Given the description of an element on the screen output the (x, y) to click on. 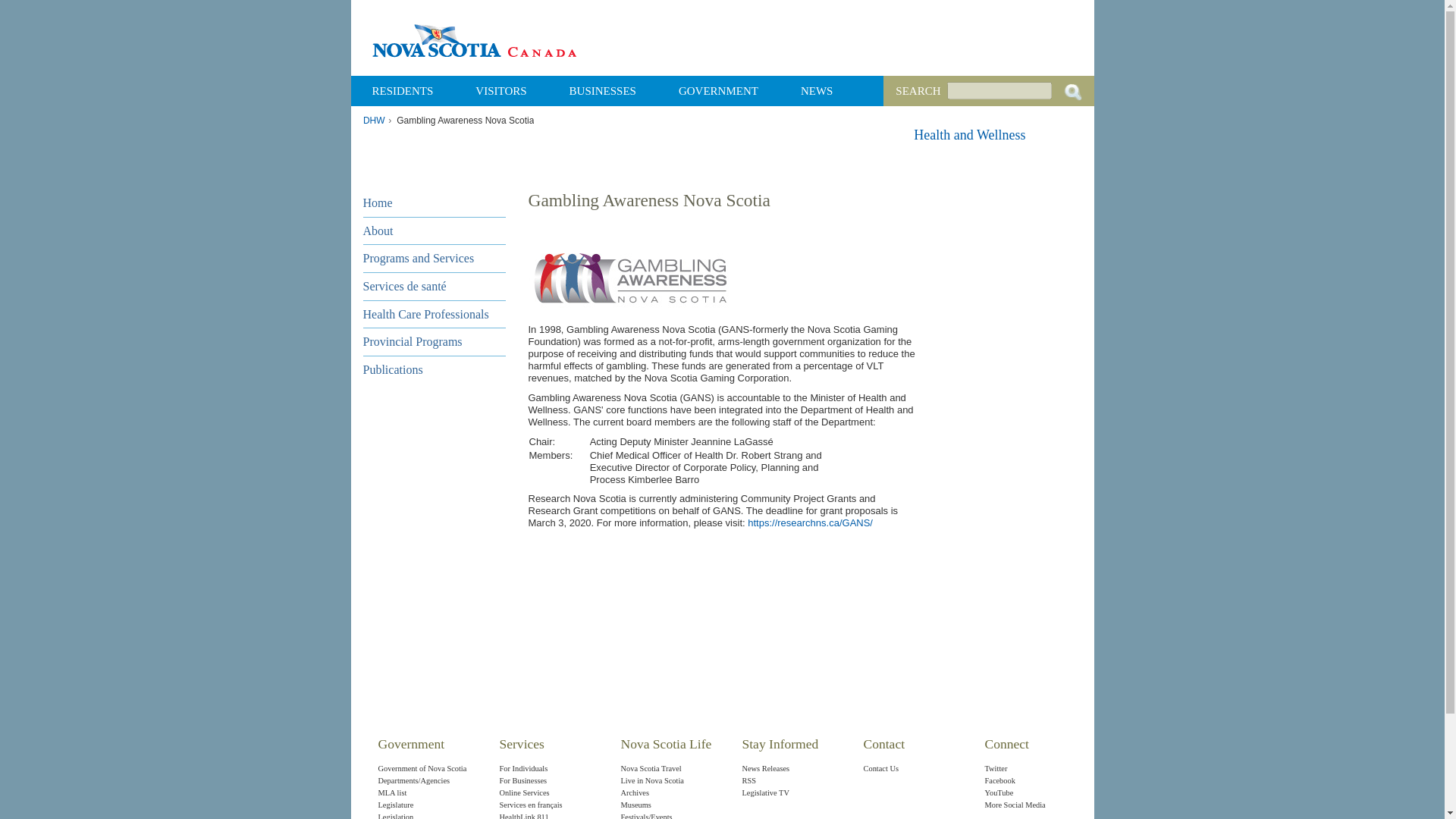
NEWS (816, 91)
DHW (373, 121)
Programs and Services (433, 257)
VISITORS (500, 91)
BUSINESSES (602, 91)
Health Care Professionals (433, 314)
RESIDENTS (401, 91)
About (433, 230)
Home (433, 203)
Health and Wellness (969, 134)
